Given the description of an element on the screen output the (x, y) to click on. 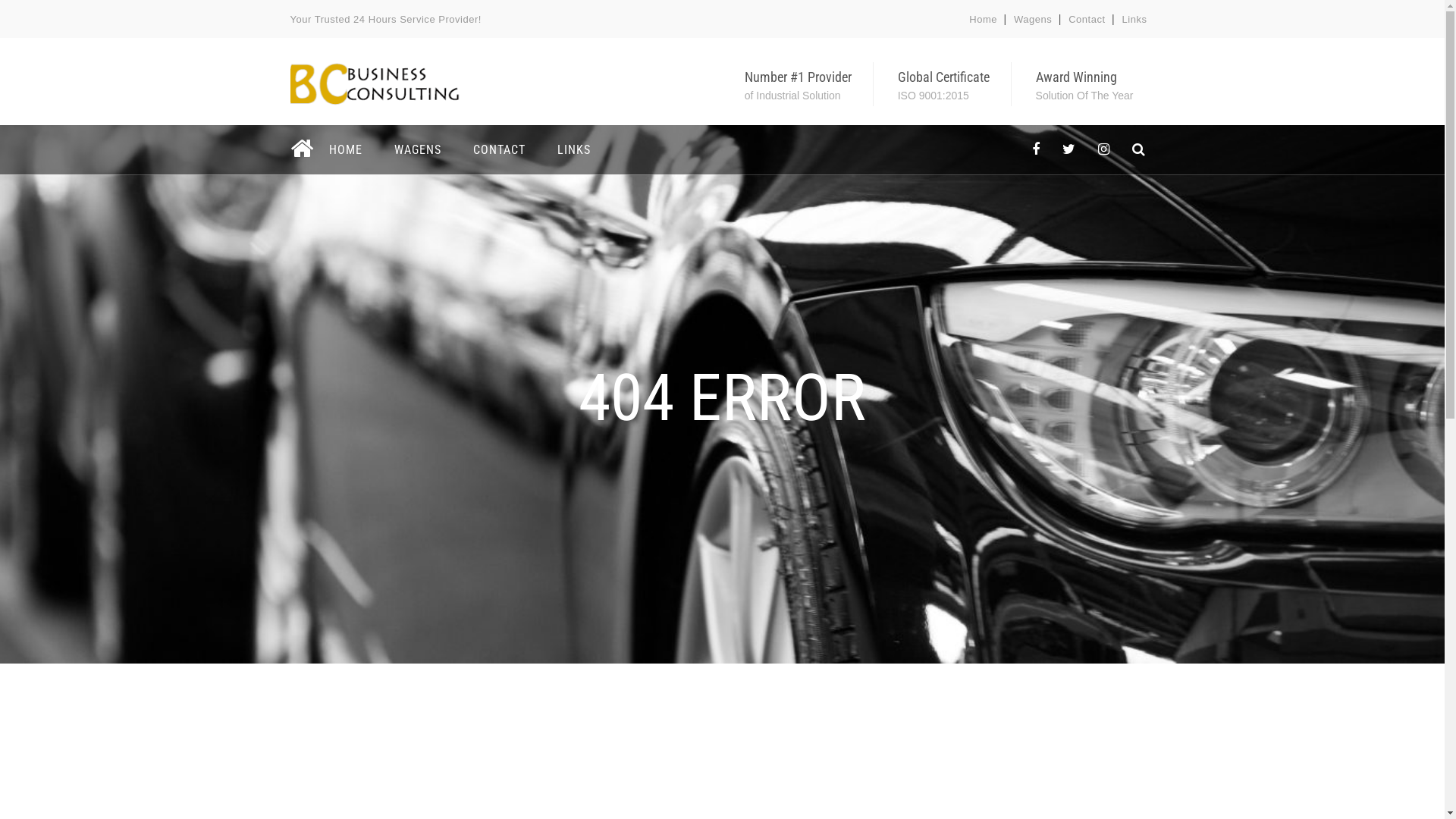
behance Element type: hover (1138, 149)
CONTACT Element type: text (498, 149)
Contact Element type: text (1086, 19)
WAGENS Element type: text (416, 149)
LINKS Element type: text (573, 149)
Home Element type: text (983, 19)
Wagens Element type: text (1032, 19)
HOME Element type: text (344, 149)
Links Element type: text (1134, 19)
